Given the description of an element on the screen output the (x, y) to click on. 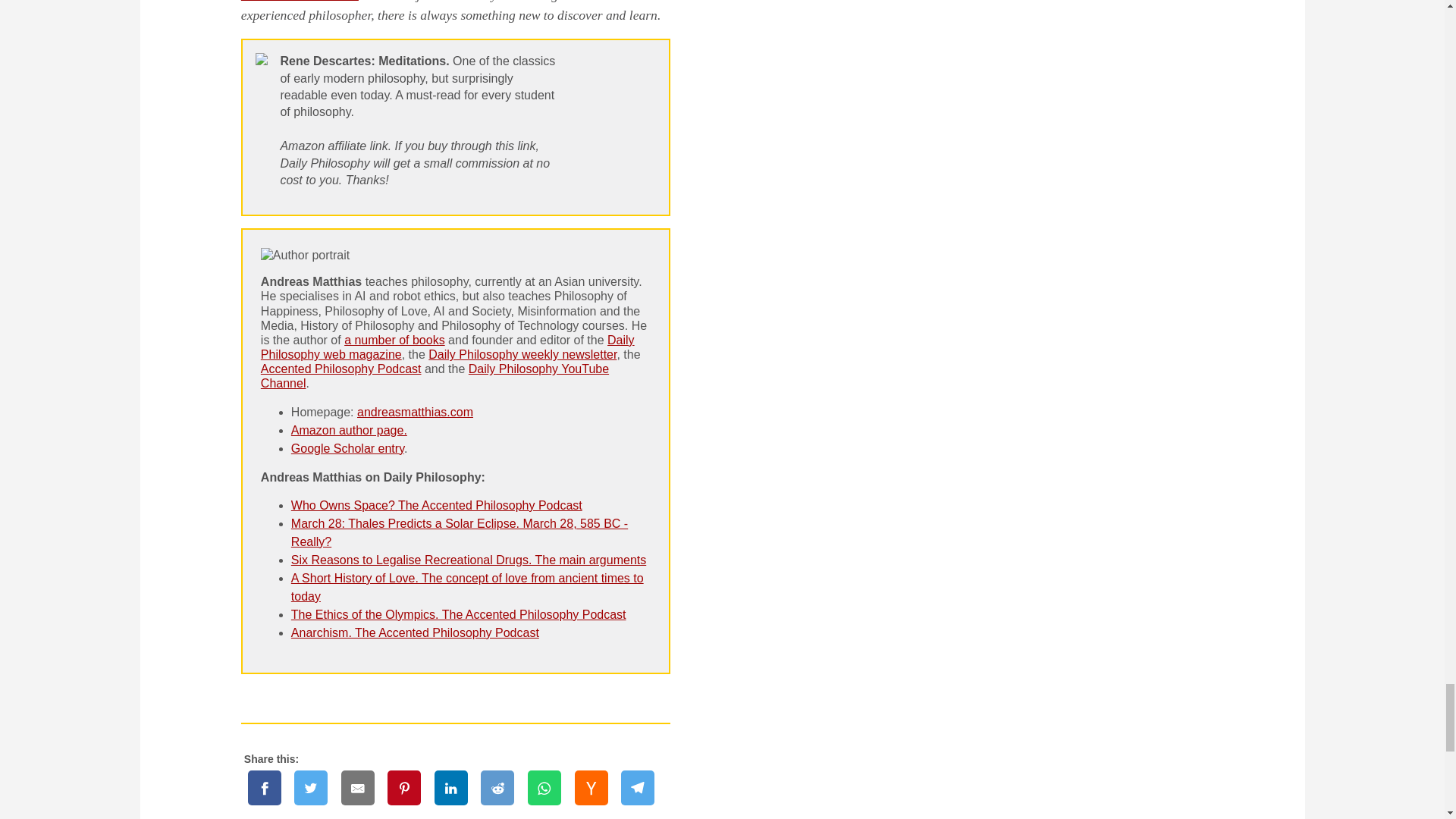
a number of books (394, 339)
Daily Philosophy YouTube Channel (434, 375)
Amazon author page. (349, 430)
Accented Philosophy Podcast (341, 368)
Google Scholar entry (347, 448)
Who Owns Space? The Accented Philosophy Podcast (436, 504)
Anarchism. The Accented Philosophy Podcast (414, 632)
Daily Philosophy web magazine (447, 347)
andreasmatthias.com (414, 411)
The Ethics of the Olympics. The Accented Philosophy Podcast (458, 614)
Daily Philosophy weekly newsletter (521, 354)
